Given the description of an element on the screen output the (x, y) to click on. 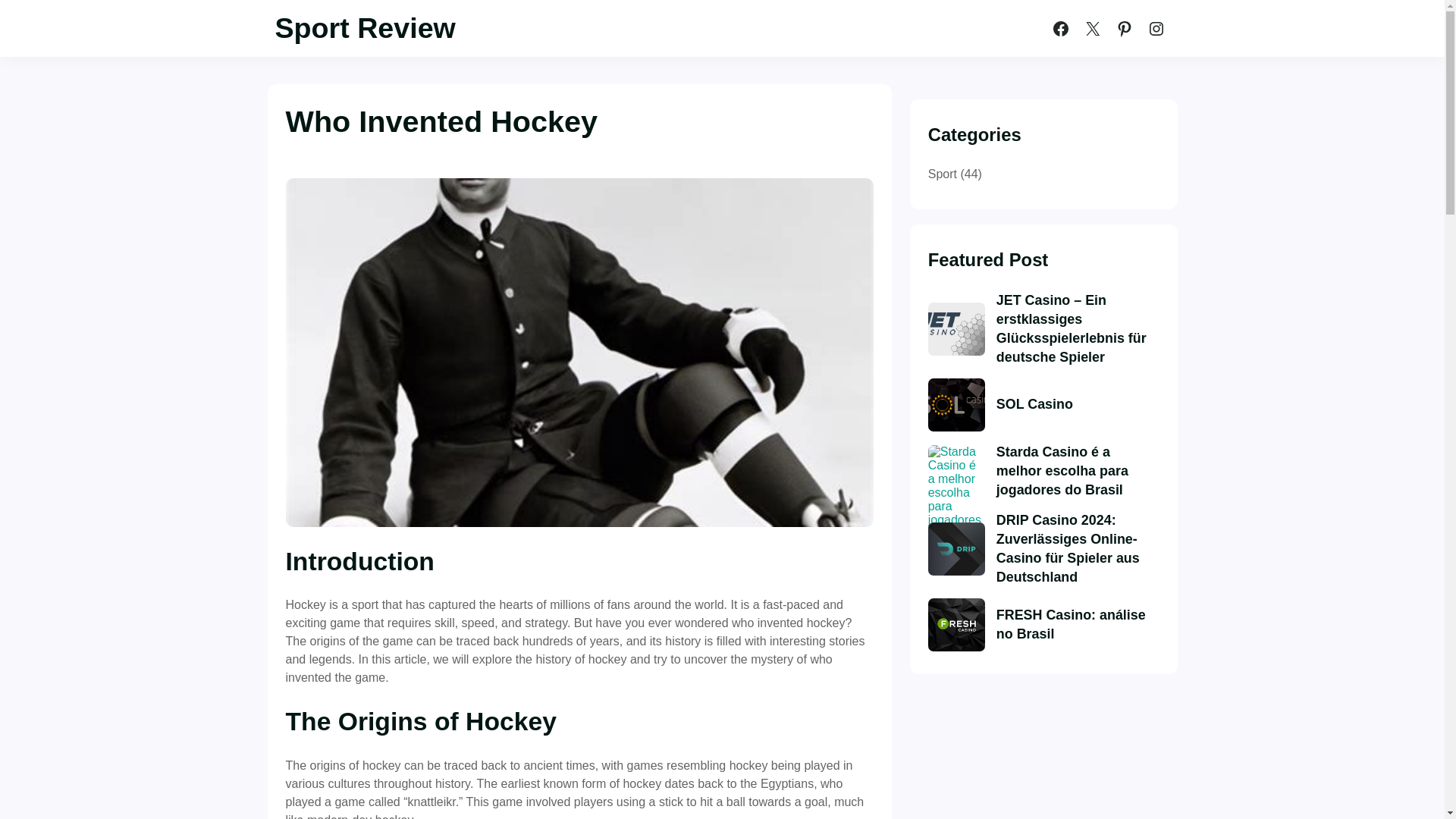
Facebook (1060, 28)
Sport (942, 173)
Instagram (1155, 28)
Sport Review (364, 28)
Pinterest (1123, 28)
X (1091, 28)
SOL Casino (956, 404)
SOL Casino (1034, 404)
